Given the description of an element on the screen output the (x, y) to click on. 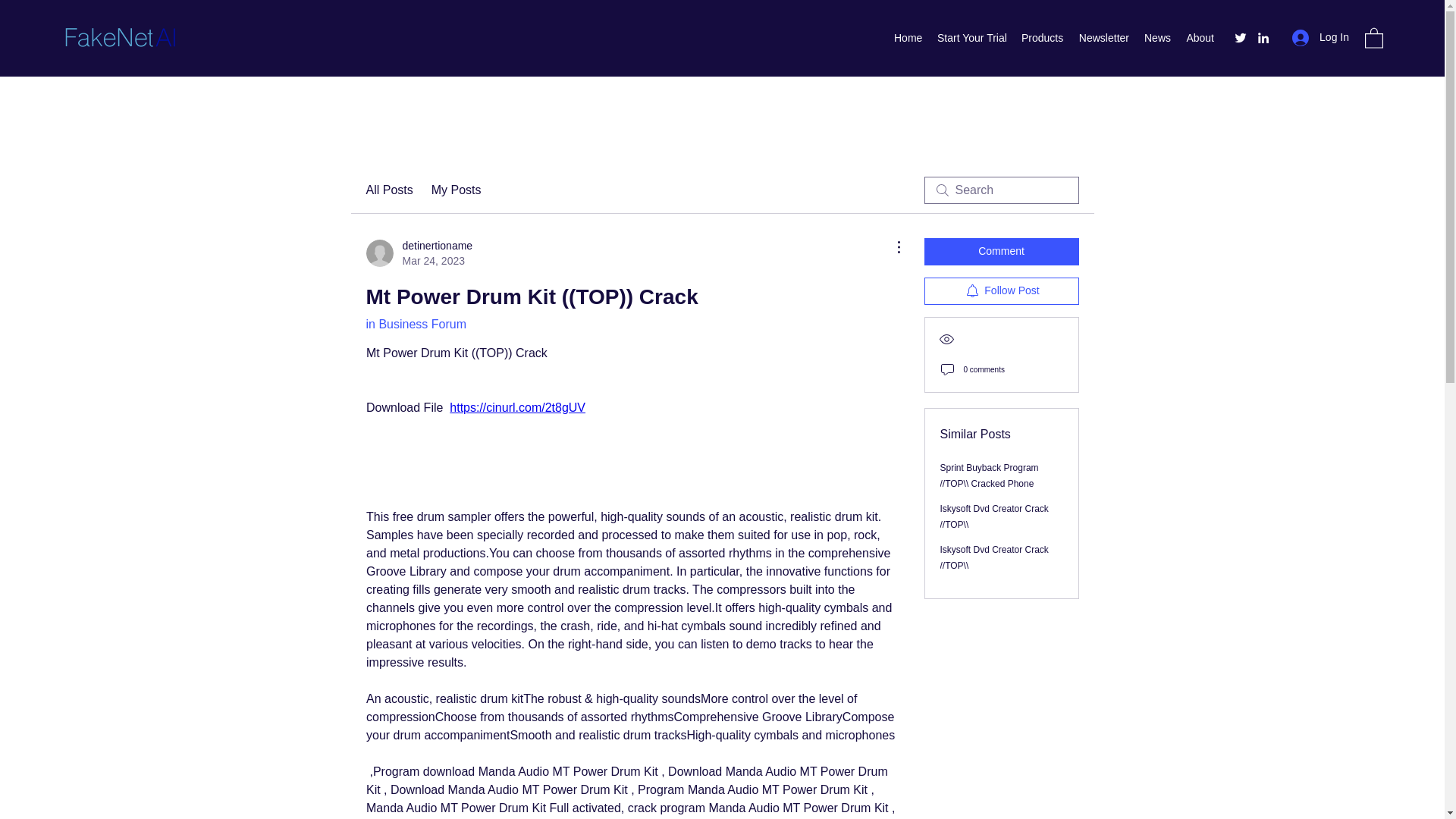
Home (908, 37)
Start Your Trial (971, 37)
Follow Post (1000, 290)
All Posts (388, 189)
in Business Forum (415, 323)
Newsletter (1103, 37)
News (1157, 37)
Comment (1000, 251)
Log In (418, 253)
About (1320, 37)
My Posts (1199, 37)
Products (455, 189)
